Given the description of an element on the screen output the (x, y) to click on. 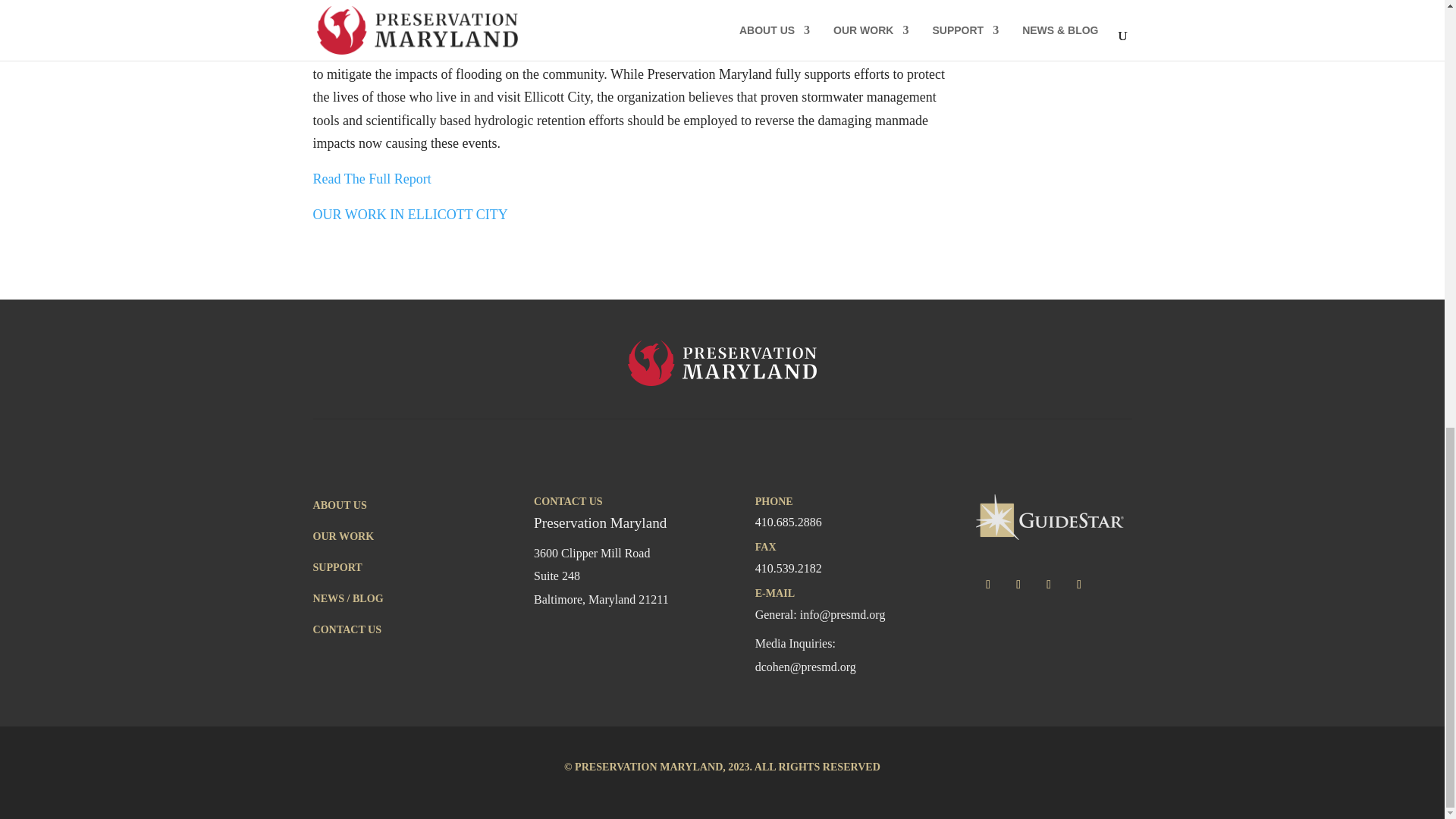
Follow on Twitter (1018, 584)
Follow on Facebook (987, 584)
Follow on Instagram (1048, 584)
Follow on LinkedIn (1078, 584)
